Given the description of an element on the screen output the (x, y) to click on. 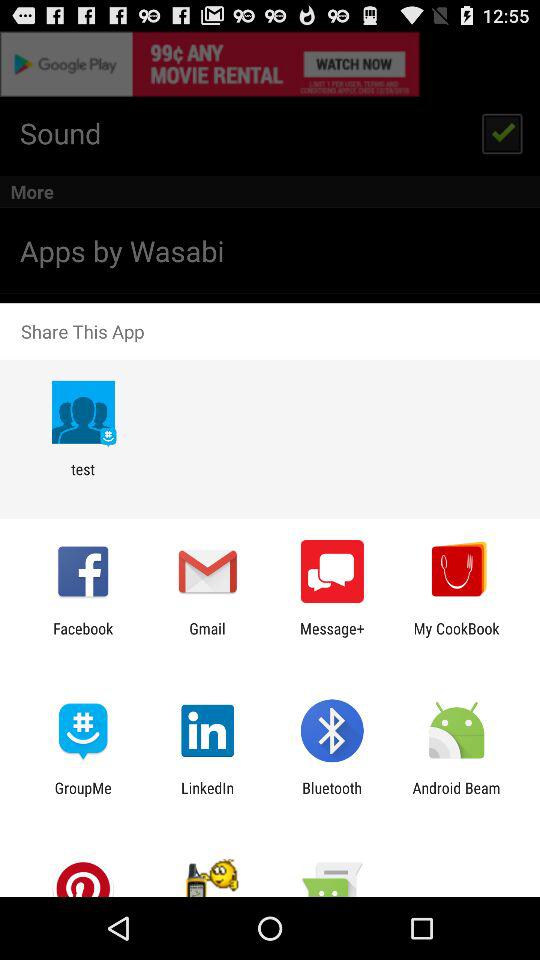
turn off app next to gmail icon (332, 637)
